Given the description of an element on the screen output the (x, y) to click on. 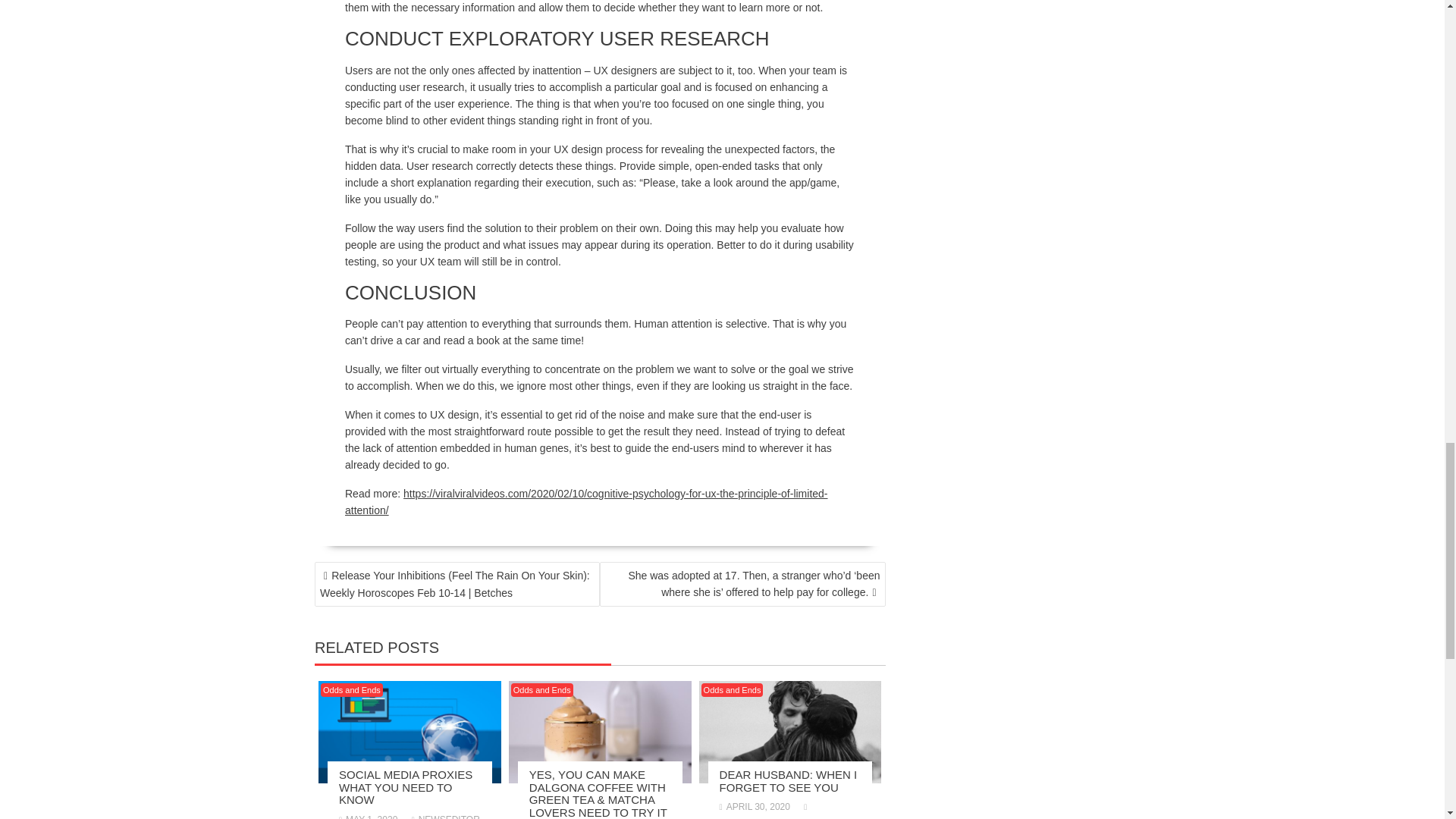
Odds and Ends (731, 689)
SOCIAL MEDIA PROXIES WHAT YOU NEED TO KNOW (405, 786)
DEAR HUSBAND: WHEN I FORGET TO SEE YOU (788, 780)
APRIL 30, 2020 (754, 806)
NEWSEDITOR (446, 816)
MAY 1, 2020 (368, 816)
Odds and Ends (351, 689)
NEWSEDITOR (764, 810)
Odds and Ends (542, 689)
